Given the description of an element on the screen output the (x, y) to click on. 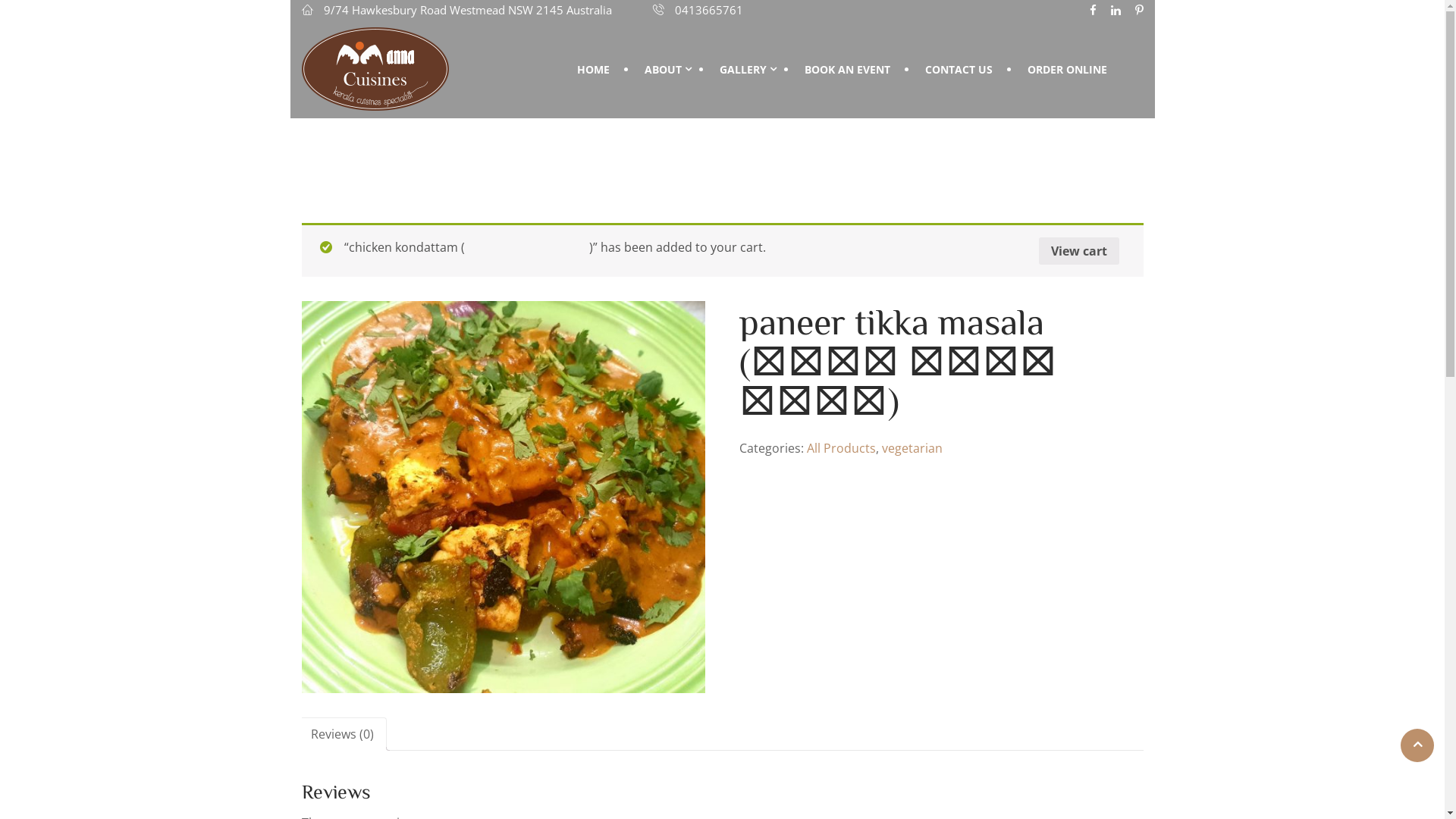
CONTACT US Element type: text (958, 69)
Paneer_Tikka_Masala Element type: hover (503, 497)
All Products Element type: text (840, 447)
HOME Element type: text (593, 69)
BOOK AN EVENT Element type: text (846, 69)
0413665761 Element type: text (697, 9)
vegetarian Element type: text (911, 447)
ABOUT Element type: text (664, 69)
ORDER ONLINE Element type: text (1066, 69)
View cart Element type: text (1078, 250)
GALLERY Element type: text (744, 69)
Reviews (0) Element type: text (341, 733)
